Given the description of an element on the screen output the (x, y) to click on. 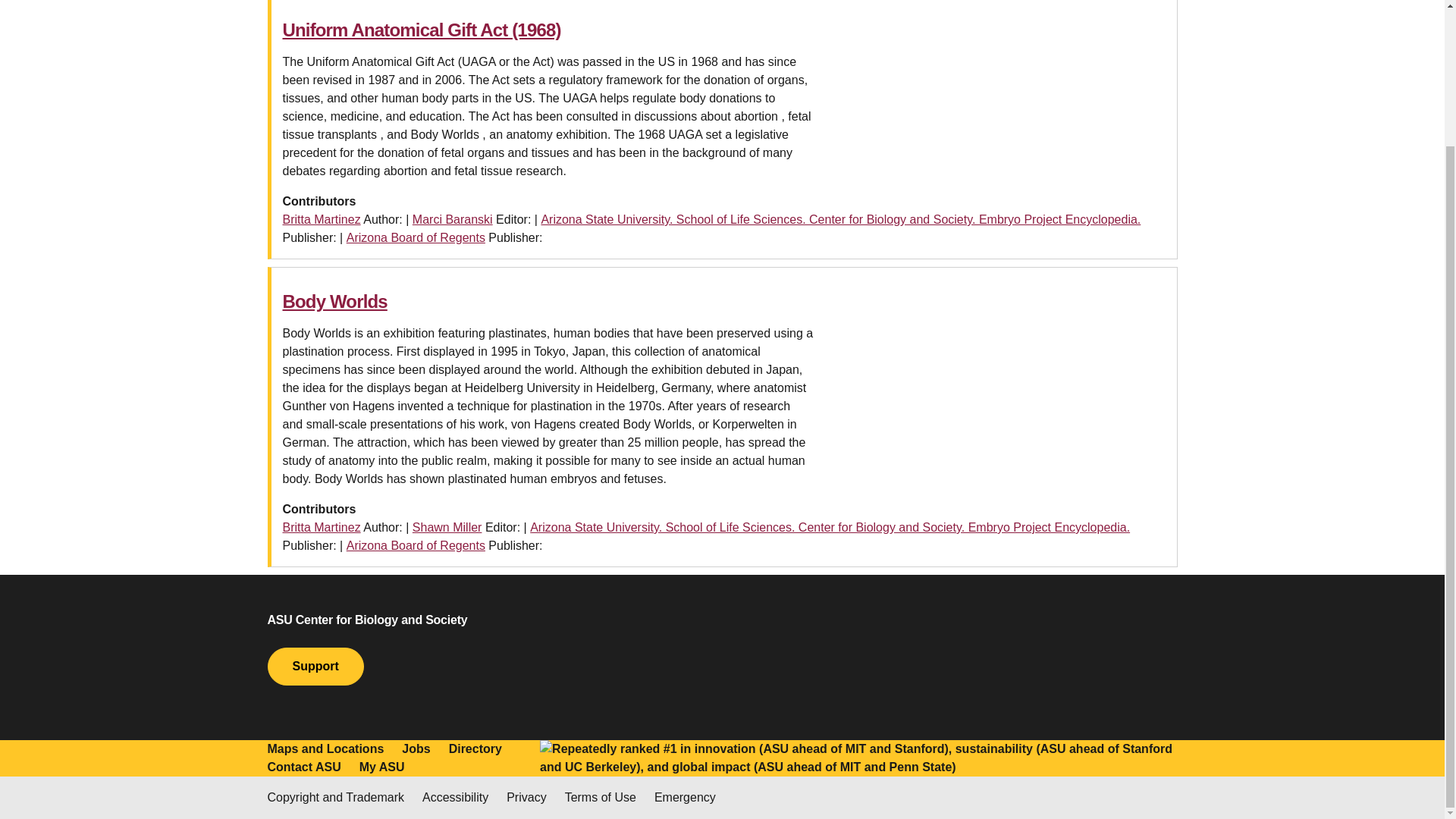
Britta Martinez (320, 526)
Terms of Use (600, 797)
Arizona Board of Regents (415, 237)
Contact ASU (303, 767)
Arizona Board of Regents (415, 545)
Copyright and Trademark (335, 797)
Body Worlds (334, 301)
Jobs (415, 749)
Accessibility (454, 797)
Directory (475, 749)
Marci Baranski (452, 219)
Britta Martinez (320, 219)
Support (314, 666)
